Given the description of an element on the screen output the (x, y) to click on. 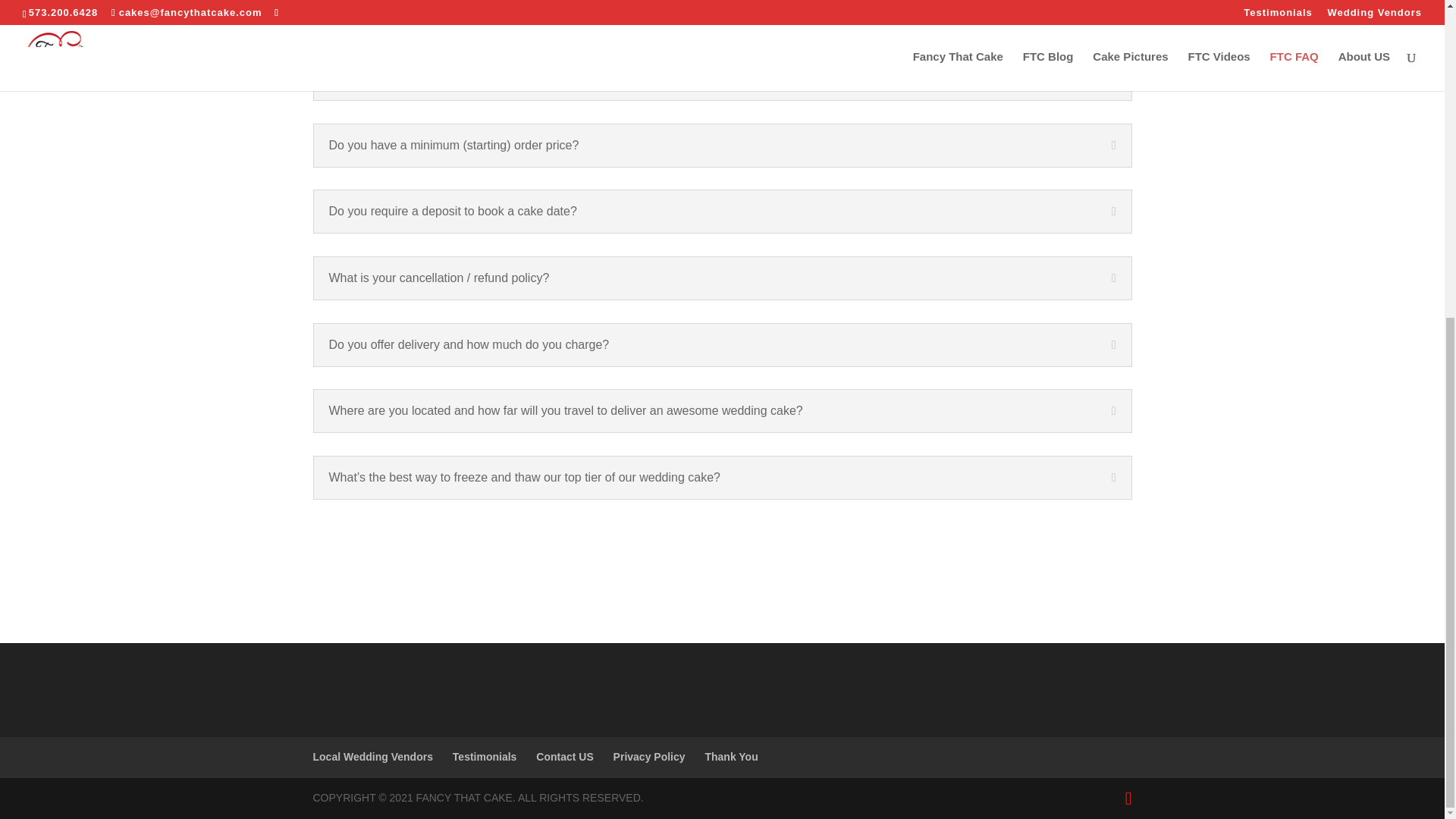
Testimonials (484, 756)
Contact US (563, 756)
Thank You (730, 756)
Local Wedding Vendors (372, 756)
Privacy Policy (648, 756)
